Given the description of an element on the screen output the (x, y) to click on. 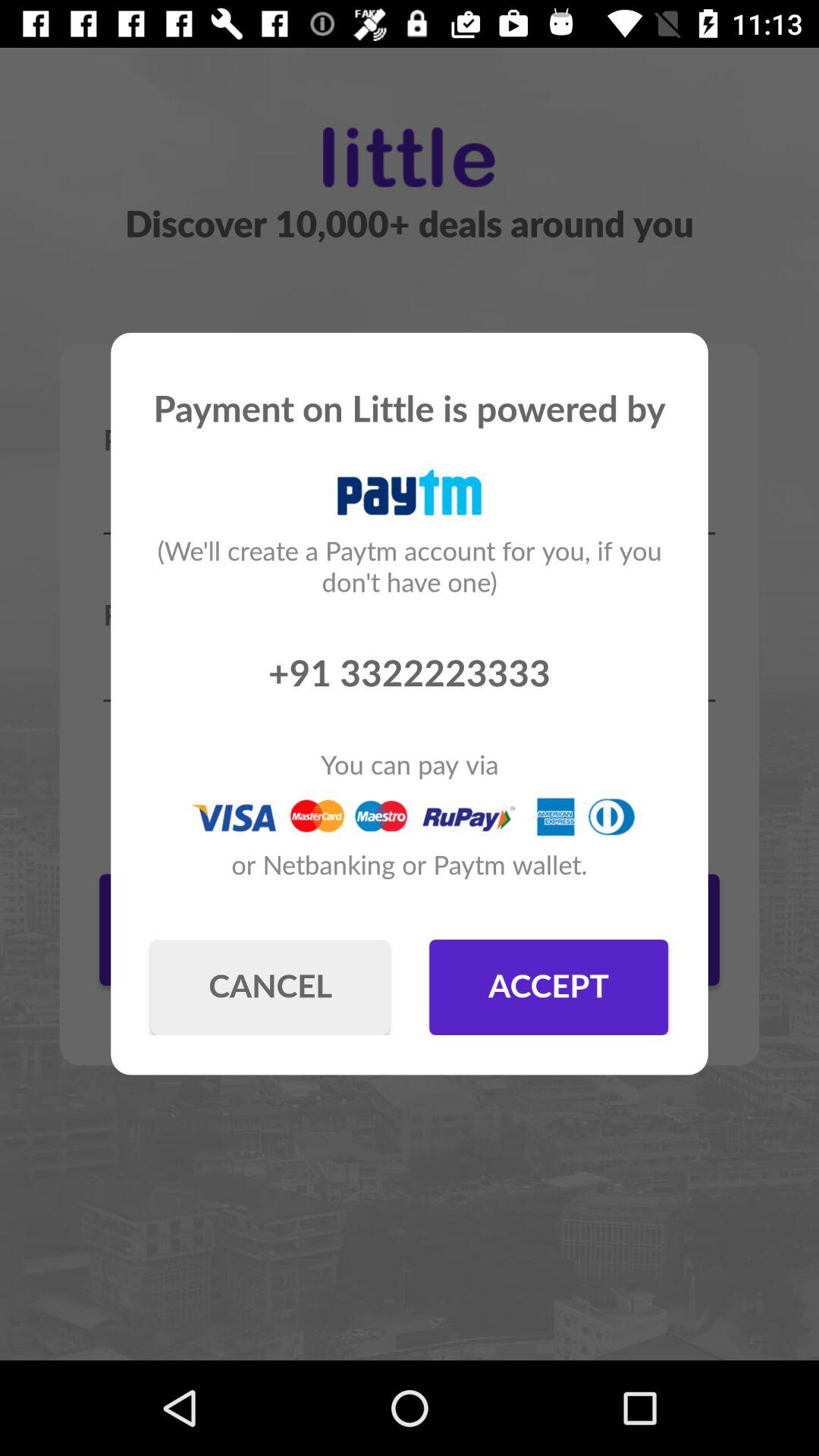
choose the icon below the or netbanking or app (269, 987)
